Given the description of an element on the screen output the (x, y) to click on. 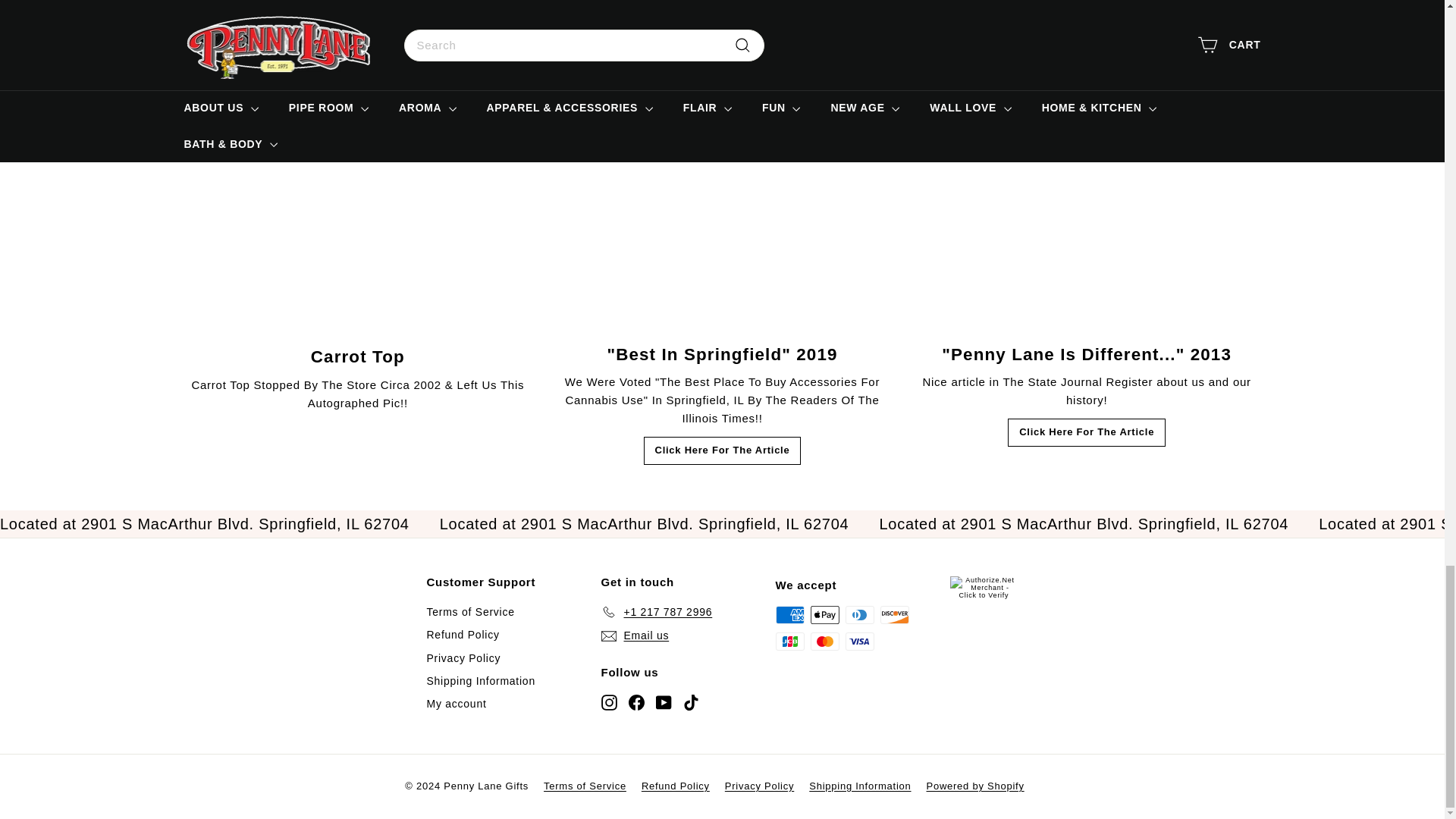
Penny Lane Gifts on TikTok (690, 701)
Penny Lane Gifts on Instagram (607, 701)
instagram (607, 702)
Penny Lane Gifts on YouTube (663, 701)
Penny Lane Gifts on Facebook (635, 701)
